Given the description of an element on the screen output the (x, y) to click on. 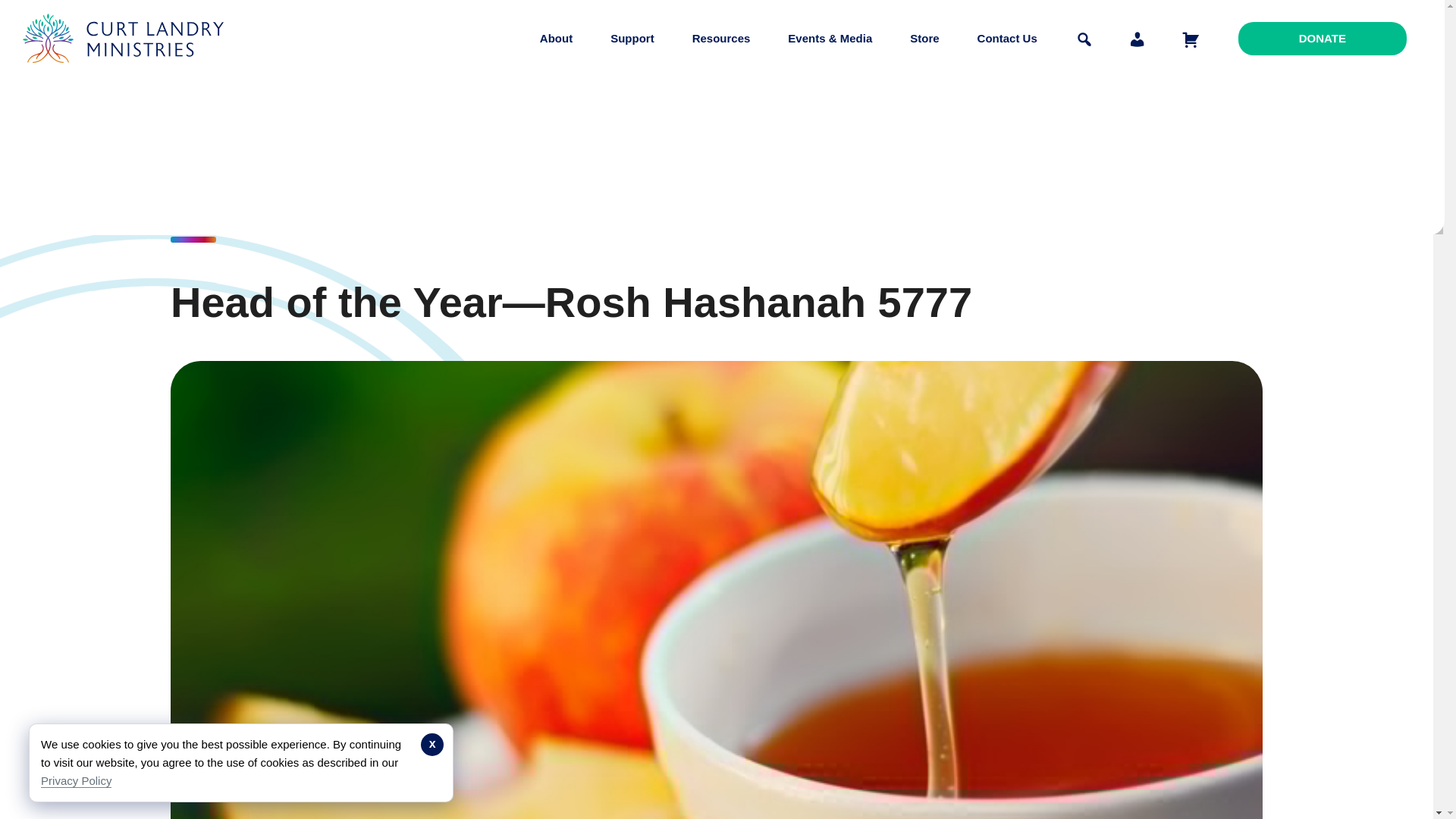
Resources (721, 38)
Store (924, 38)
Curt Landry Ministries (127, 74)
About (556, 38)
Support (631, 38)
